Given the description of an element on the screen output the (x, y) to click on. 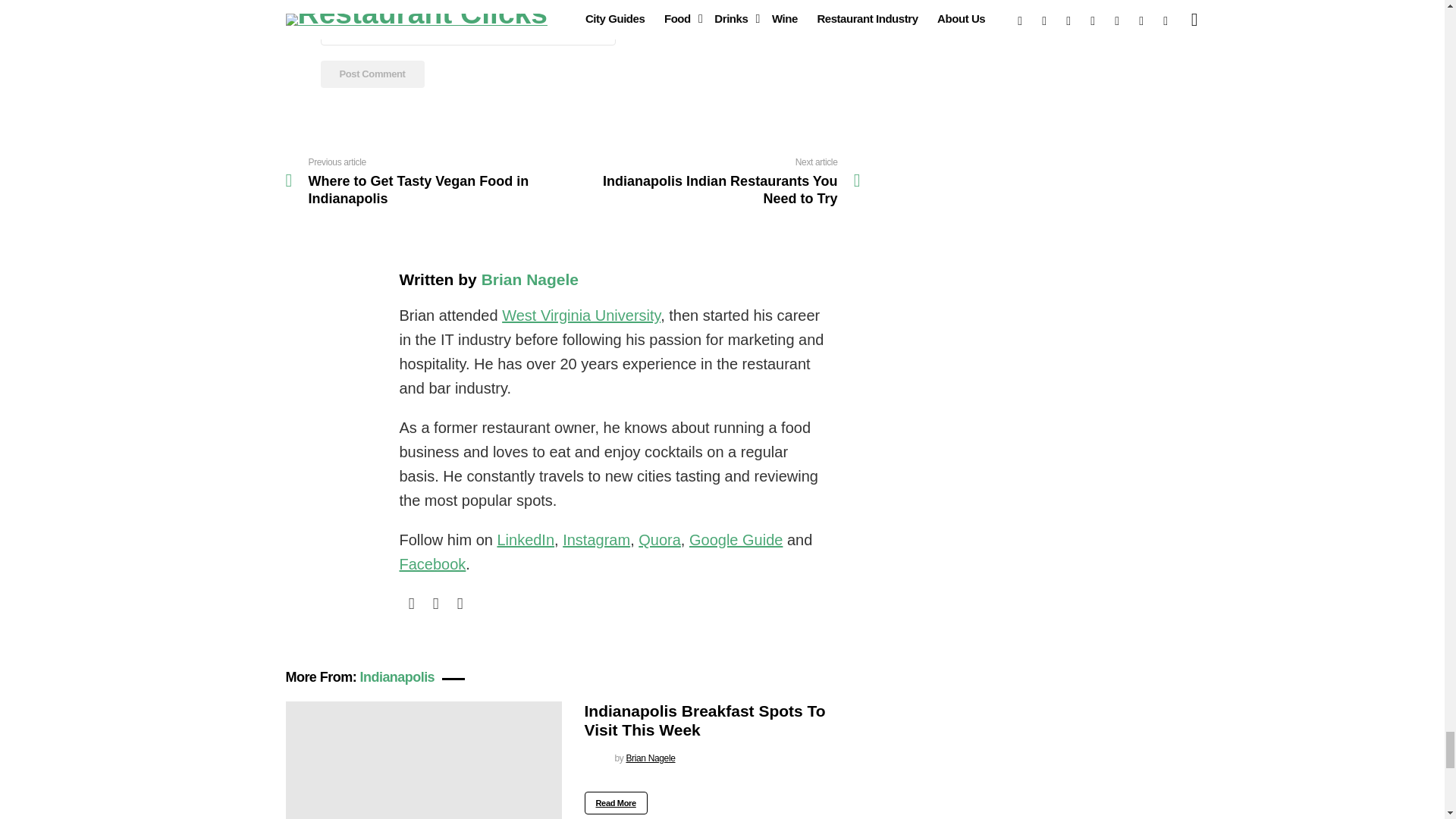
Post Comment (371, 73)
